Given the description of an element on the screen output the (x, y) to click on. 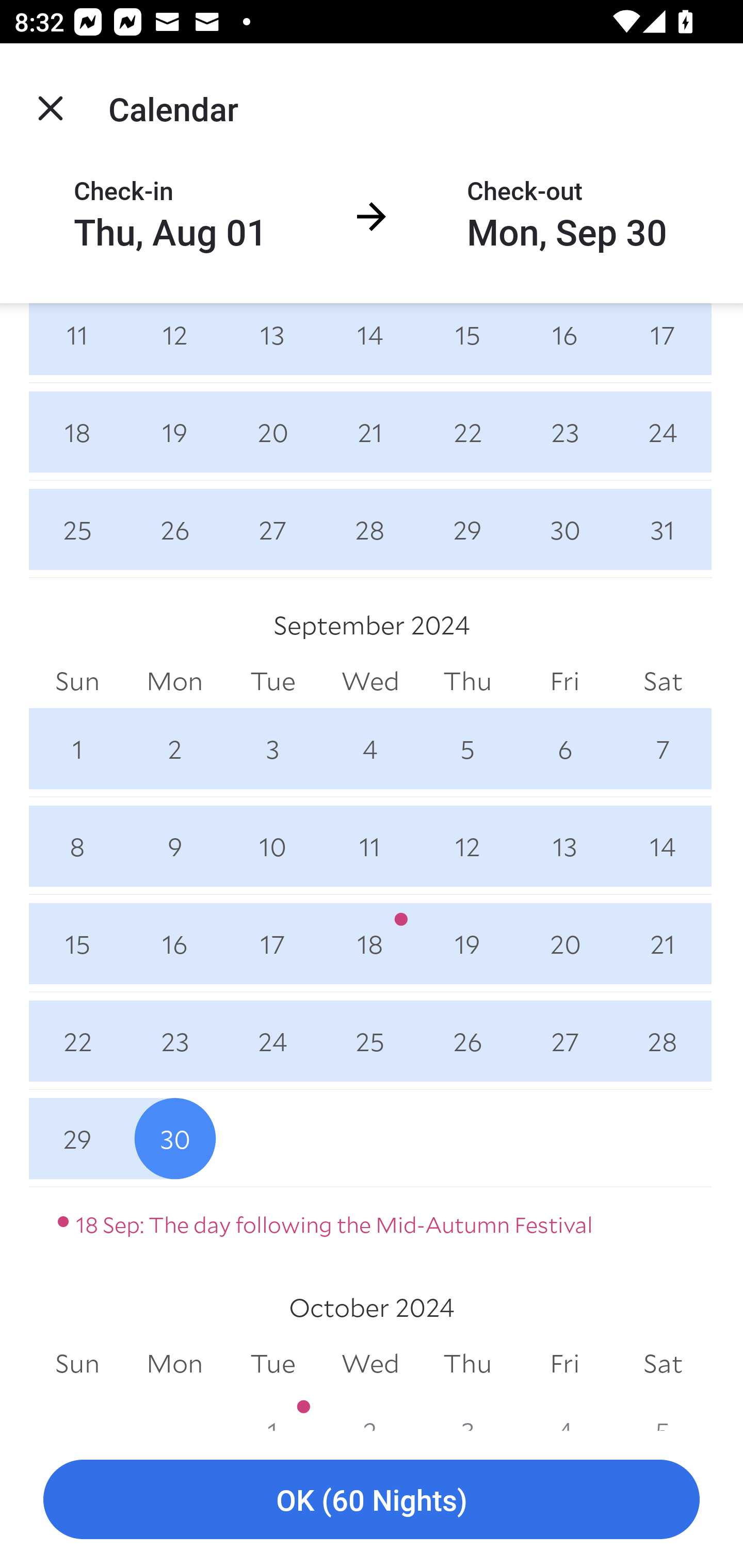
11 11 August 2024 (77, 342)
12 12 August 2024 (174, 342)
13 13 August 2024 (272, 342)
14 14 August 2024 (370, 342)
15 15 August 2024 (467, 342)
16 16 August 2024 (564, 342)
17 17 August 2024 (662, 342)
18 18 August 2024 (77, 431)
19 19 August 2024 (174, 431)
20 20 August 2024 (272, 431)
21 21 August 2024 (370, 431)
22 22 August 2024 (467, 431)
23 23 August 2024 (564, 431)
24 24 August 2024 (662, 431)
25 25 August 2024 (77, 529)
26 26 August 2024 (174, 529)
27 27 August 2024 (272, 529)
28 28 August 2024 (370, 529)
29 29 August 2024 (467, 529)
30 30 August 2024 (564, 529)
31 31 August 2024 (662, 529)
Sun (77, 681)
Mon (174, 681)
Tue (272, 681)
Wed (370, 681)
Thu (467, 681)
Fri (564, 681)
Sat (662, 681)
1 1 September 2024 (77, 748)
2 2 September 2024 (174, 748)
3 3 September 2024 (272, 748)
4 4 September 2024 (370, 748)
5 5 September 2024 (467, 748)
6 6 September 2024 (564, 748)
7 7 September 2024 (662, 748)
8 8 September 2024 (77, 846)
9 9 September 2024 (174, 846)
10 10 September 2024 (272, 846)
11 11 September 2024 (370, 846)
12 12 September 2024 (467, 846)
13 13 September 2024 (564, 846)
14 14 September 2024 (662, 846)
15 15 September 2024 (77, 943)
16 16 September 2024 (174, 943)
17 17 September 2024 (272, 943)
18 18 September 2024 (370, 943)
19 19 September 2024 (467, 943)
20 20 September 2024 (564, 943)
21 21 September 2024 (662, 943)
22 22 September 2024 (77, 1040)
23 23 September 2024 (174, 1040)
24 24 September 2024 (272, 1040)
25 25 September 2024 (370, 1040)
26 26 September 2024 (467, 1040)
27 27 September 2024 (564, 1040)
28 28 September 2024 (662, 1040)
29 29 September 2024 (77, 1137)
30 30 September 2024 (174, 1137)
Sun (77, 1363)
Mon (174, 1363)
Tue (272, 1363)
Wed (370, 1363)
Thu (467, 1363)
Fri (564, 1363)
Sat (662, 1363)
OK (60 Nights) (371, 1499)
